Given the description of an element on the screen output the (x, y) to click on. 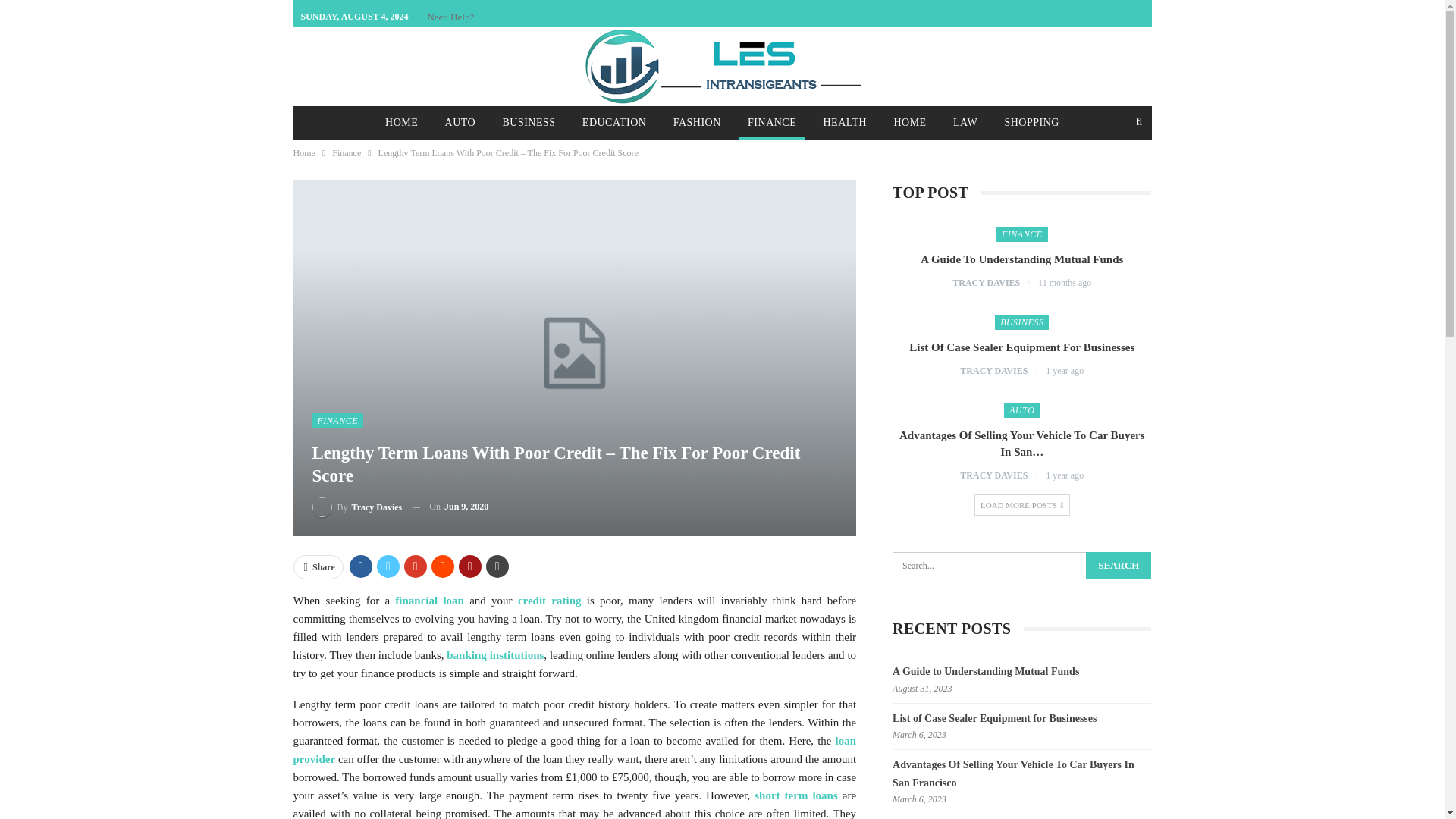
Search (1118, 565)
FASHION (696, 122)
short term loans (796, 795)
banking institutions (494, 654)
Home (303, 152)
MORE (773, 154)
LAW (965, 122)
Browse Author Articles (995, 282)
Search (1118, 565)
FINANCE (338, 420)
FINANCE (771, 122)
SHOPPING (1030, 122)
Finance (346, 152)
loan provider (574, 749)
HOME (908, 122)
